Given the description of an element on the screen output the (x, y) to click on. 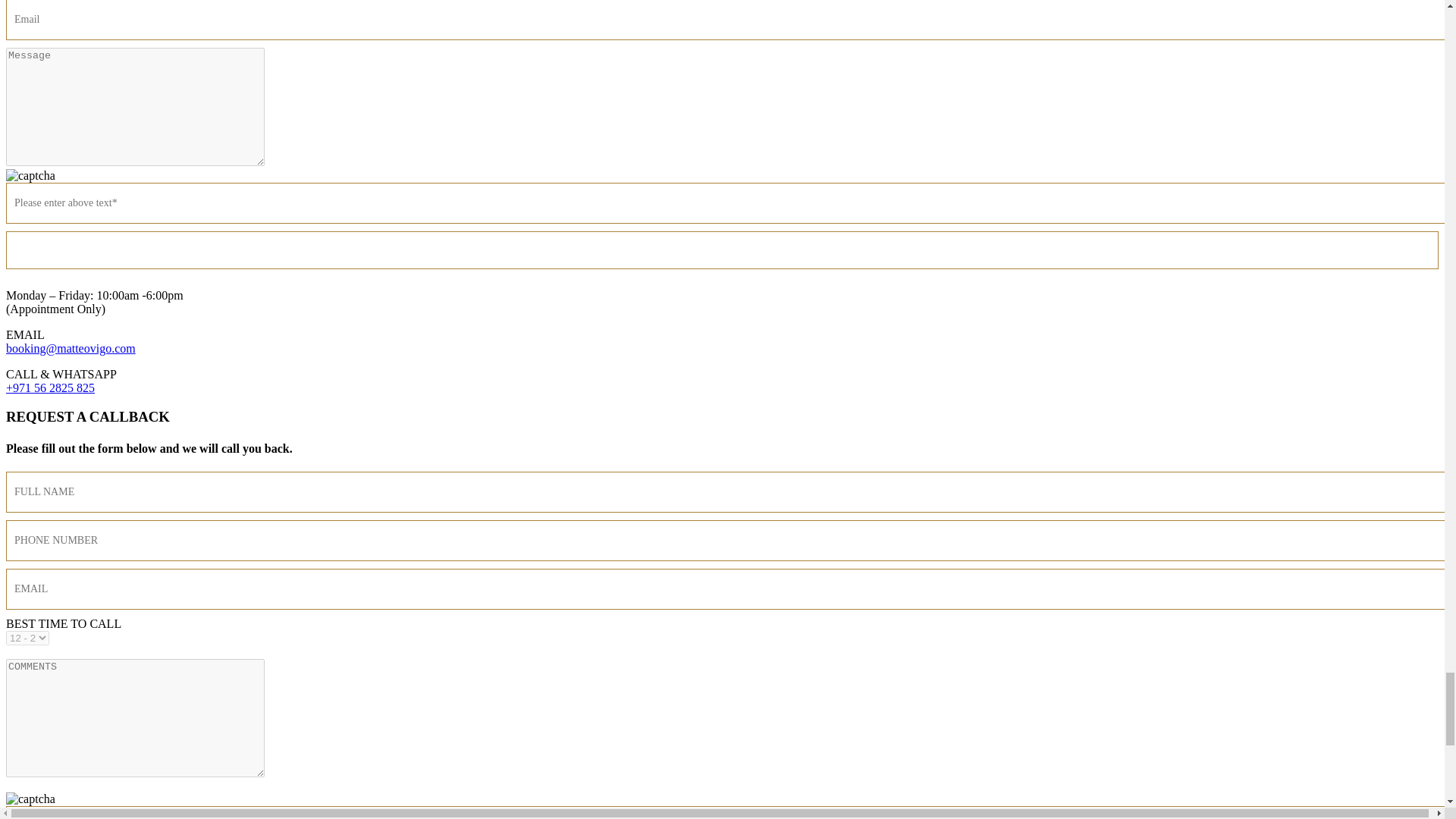
Send (721, 249)
